Given the description of an element on the screen output the (x, y) to click on. 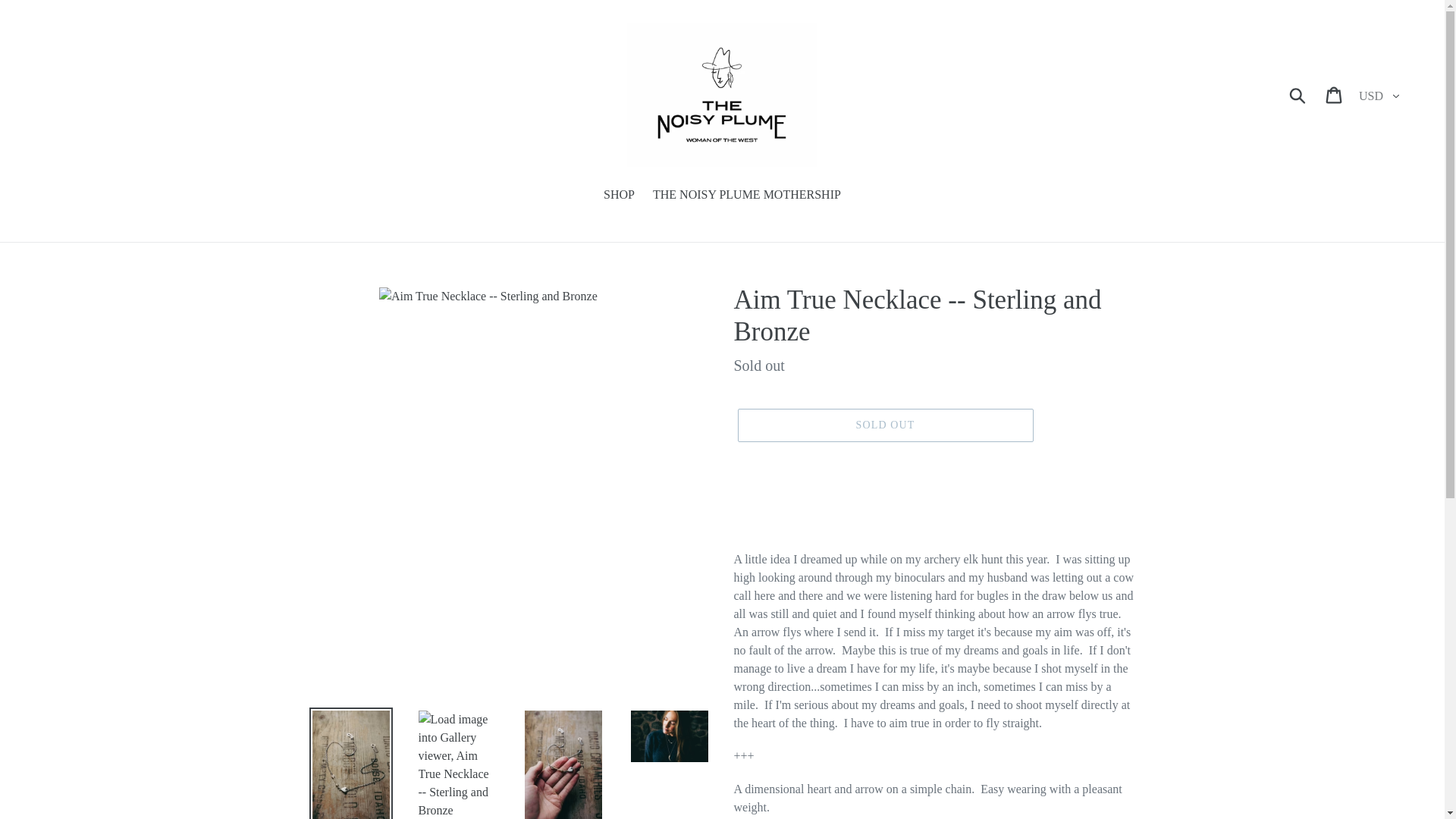
THE NOISY PLUME MOTHERSHIP (746, 195)
SHOP (618, 195)
Submit (1298, 94)
SOLD OUT (884, 425)
Cart (1334, 94)
